Given the description of an element on the screen output the (x, y) to click on. 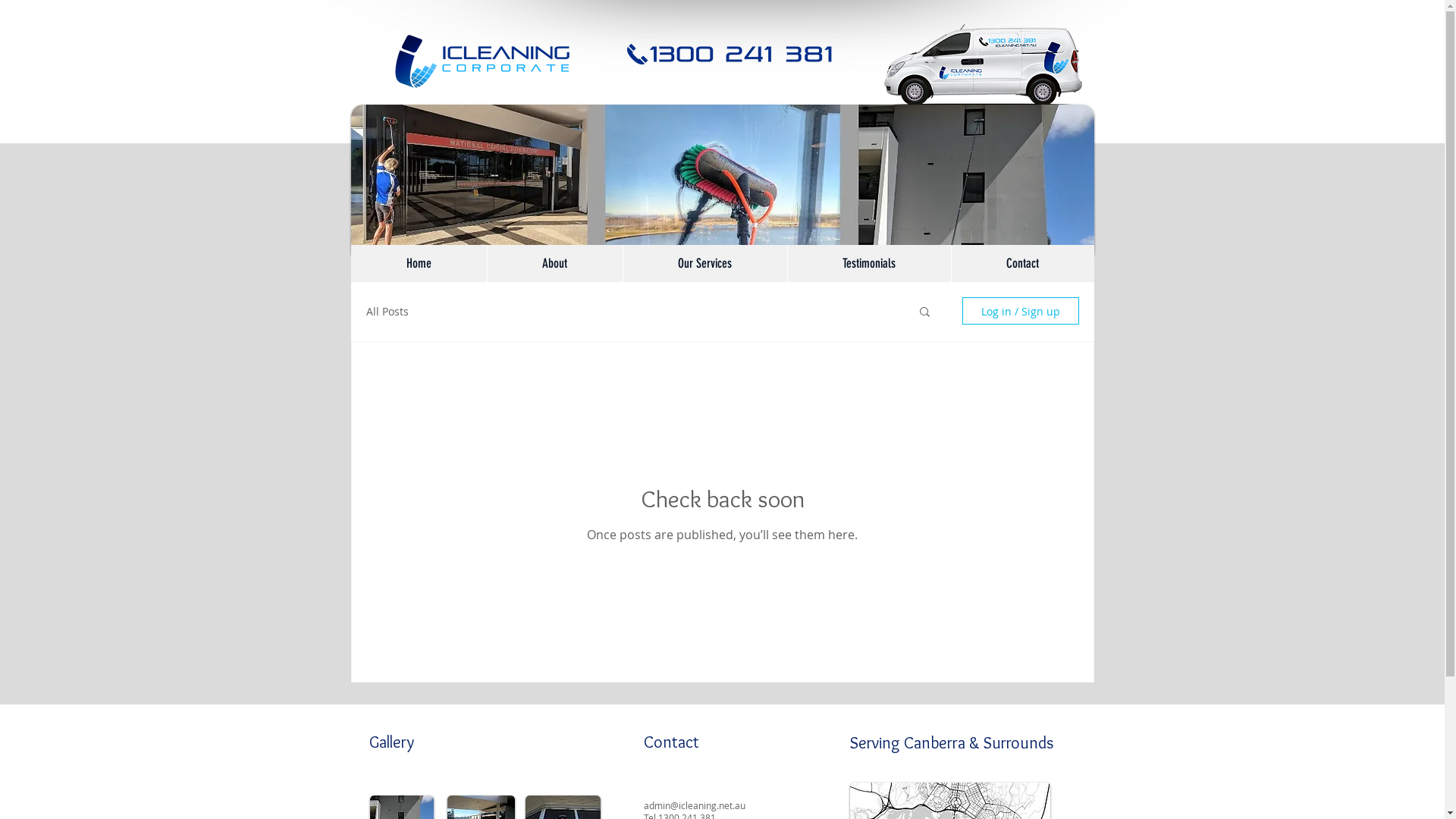
Our Services Element type: text (703, 263)
Home Element type: text (418, 263)
admin@icleaning.net.au Element type: text (693, 805)
Testimonials Element type: text (868, 263)
All Posts Element type: text (386, 310)
Contact Element type: text (1022, 263)
About Element type: text (554, 263)
Dark iCleaning Corporate Logo Horizontal.png Element type: hover (473, 61)
Log in / Sign up Element type: text (1019, 310)
